Given the description of an element on the screen output the (x, y) to click on. 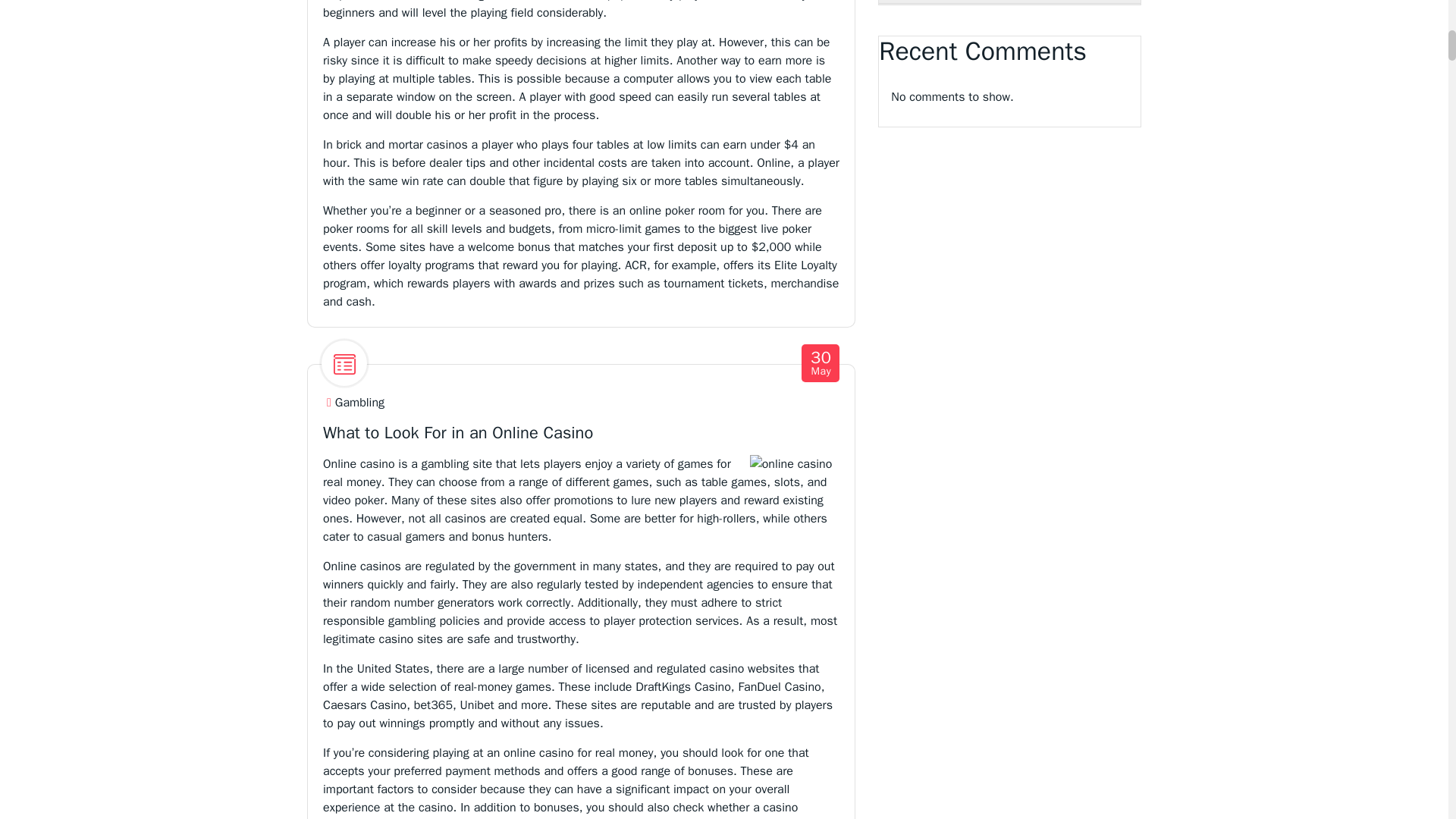
What to Look For in an Online Casino (457, 432)
Gambling (820, 363)
